Given the description of an element on the screen output the (x, y) to click on. 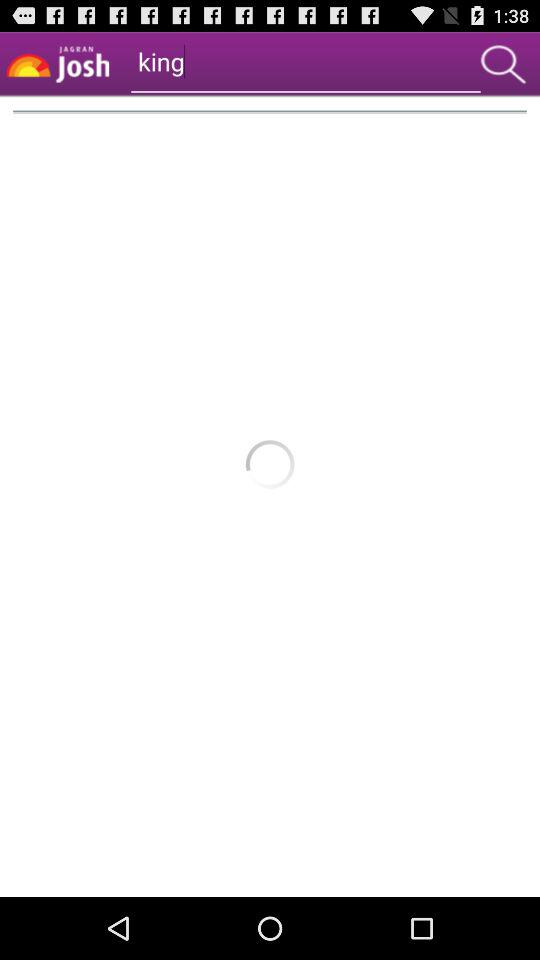
search (503, 64)
